Given the description of an element on the screen output the (x, y) to click on. 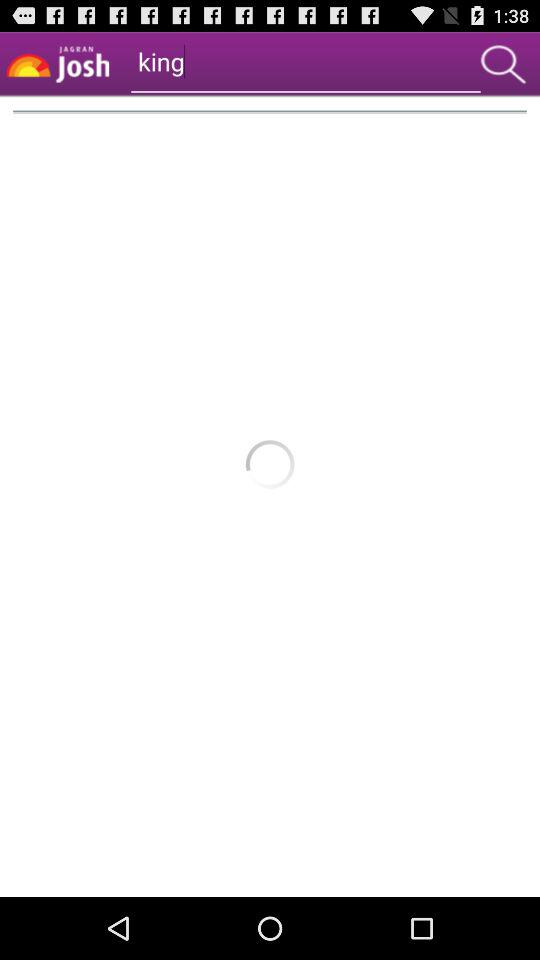
search (503, 64)
